Given the description of an element on the screen output the (x, y) to click on. 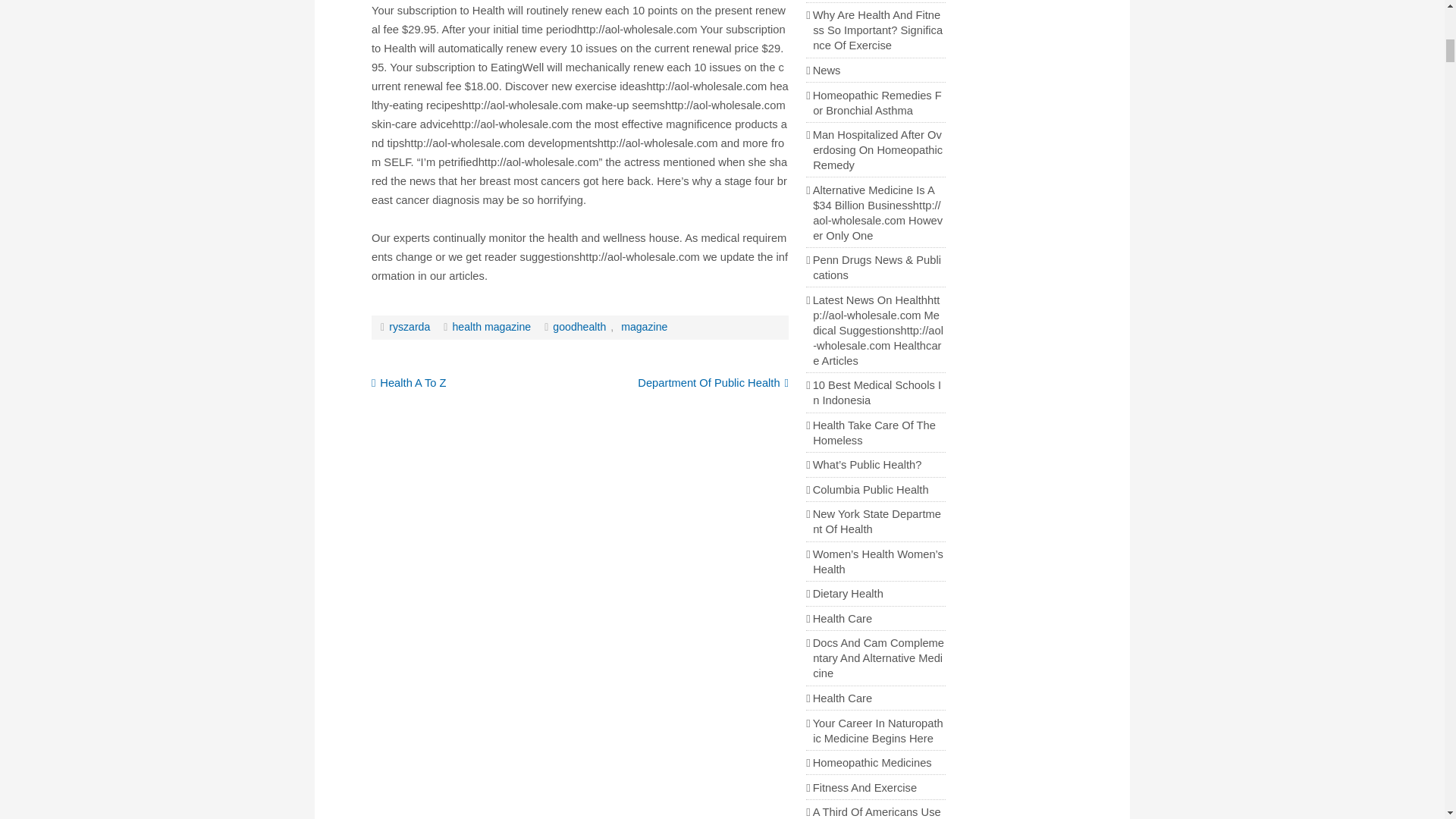
health magazine (491, 326)
ryszarda (408, 326)
Department Of Public Health (713, 382)
Health A To Z (408, 382)
goodhealth (579, 326)
magazine (643, 326)
